Given the description of an element on the screen output the (x, y) to click on. 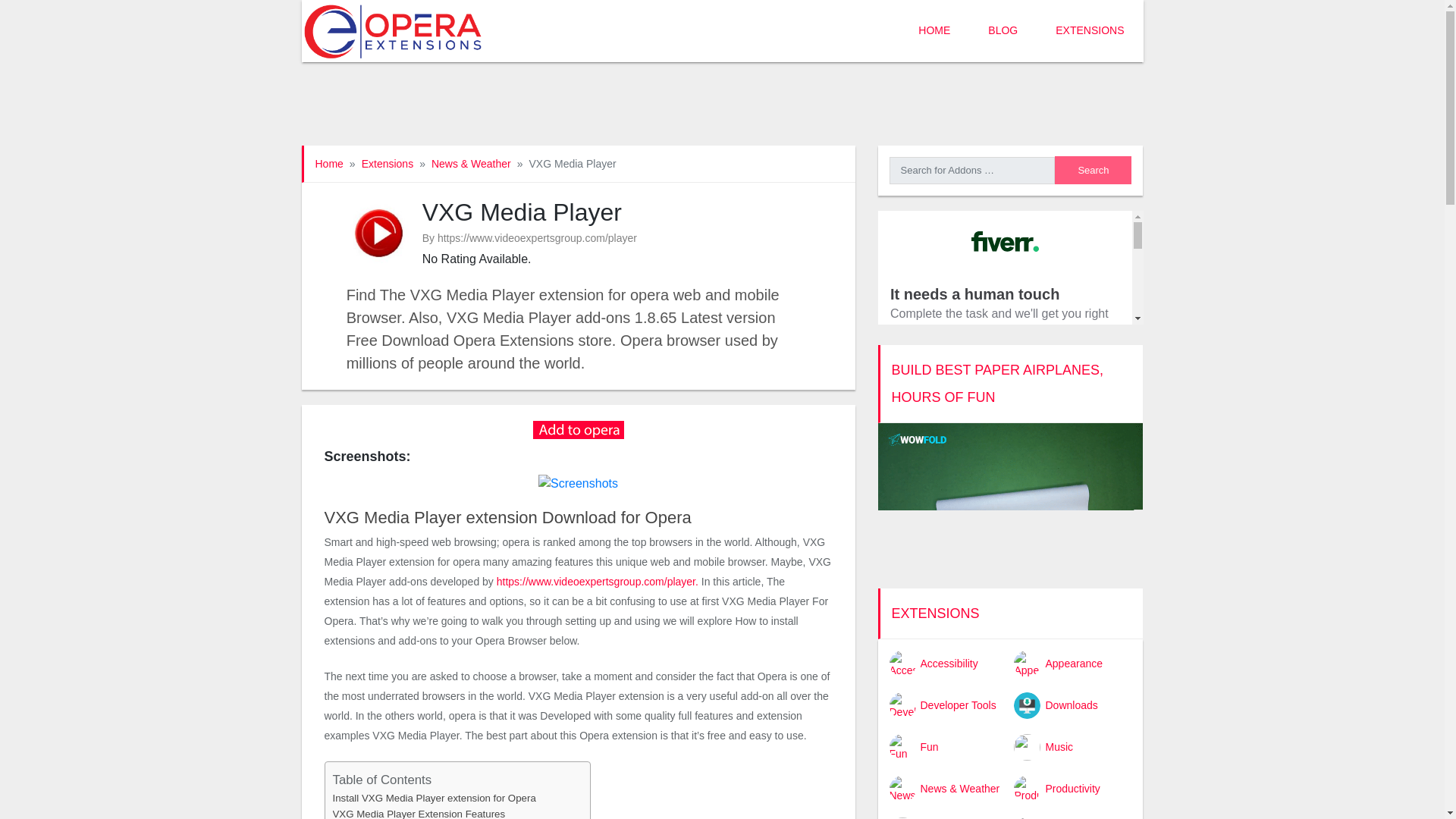
Search (1092, 170)
Search (1092, 170)
VXG Media Player Extension Features (418, 812)
Install VXG Media Player extension for Opera (433, 797)
EXTENSIONS (1089, 31)
Extensions (387, 163)
VXG Media Player Extension Features (418, 812)
Home (329, 163)
Install VXG Media Player extension for Opera (433, 797)
HOME (934, 31)
BLOG (1002, 31)
VXG Media Player - Download (577, 428)
